Given the description of an element on the screen output the (x, y) to click on. 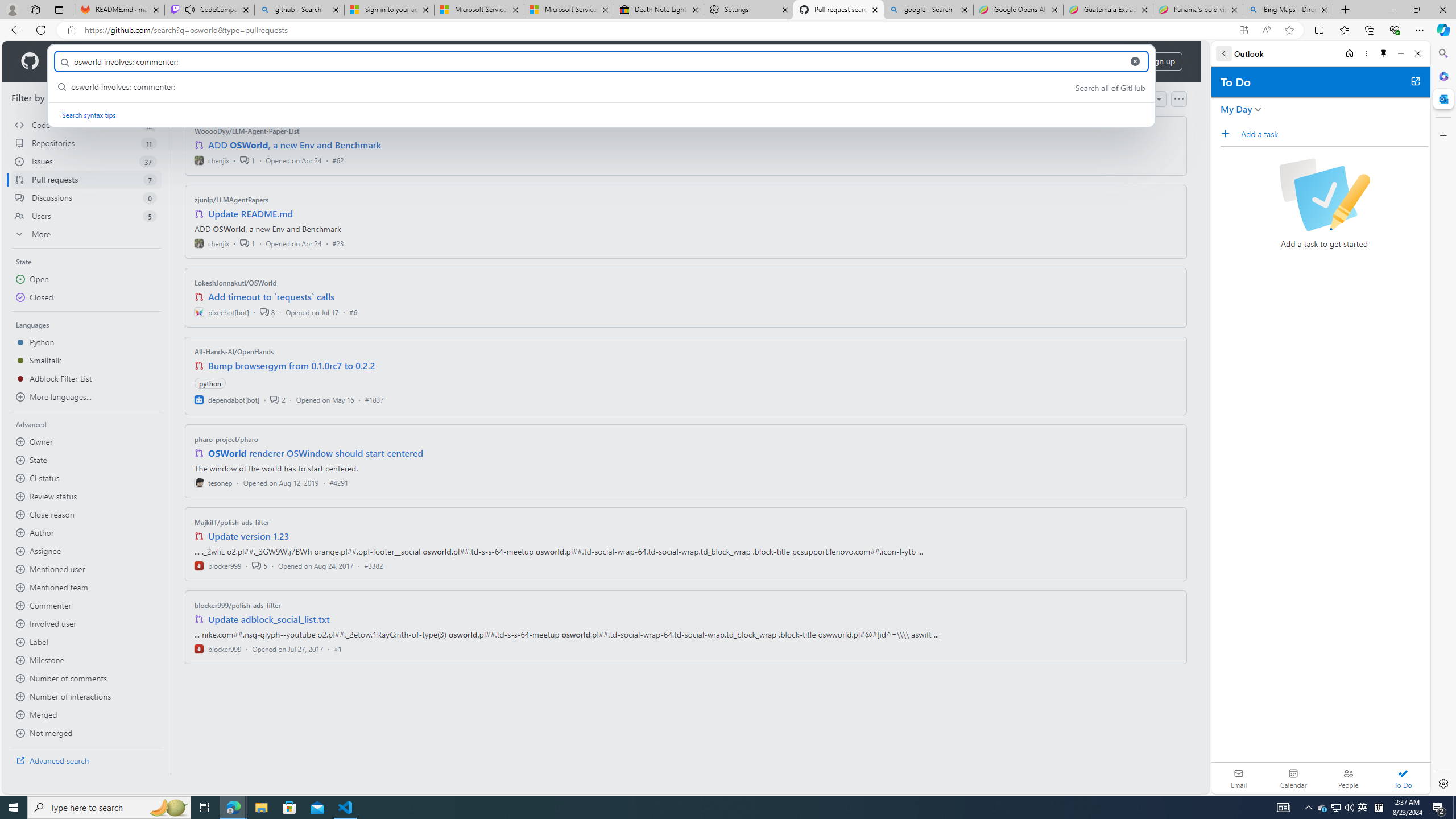
github - Search (298, 9)
#62 (337, 159)
Open Source (254, 60)
To Do (1402, 777)
Add a task (1334, 133)
#62 (337, 159)
8 (267, 311)
